Given the description of an element on the screen output the (x, y) to click on. 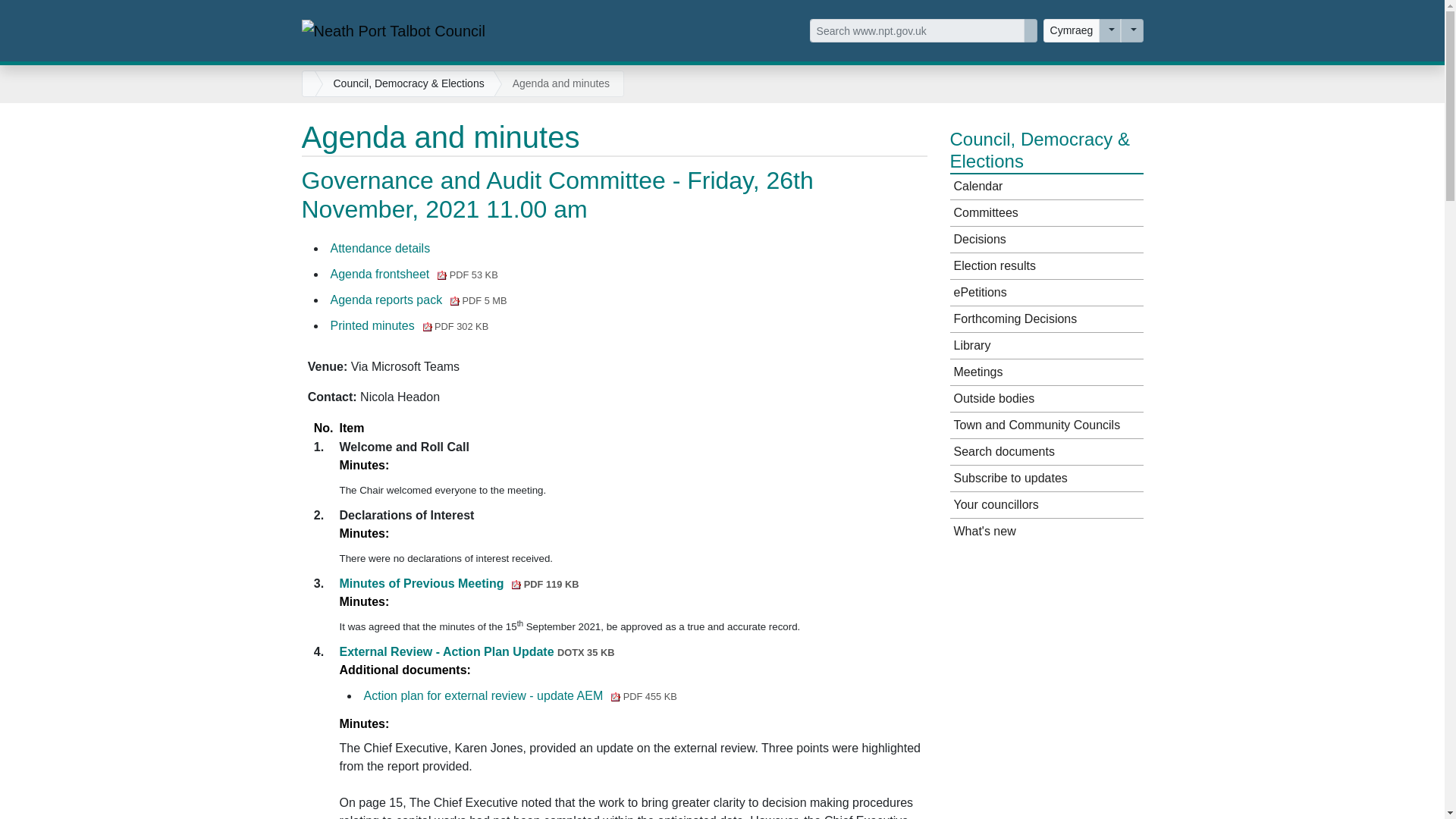
Self Service (1110, 30)
Link to printed minutes pdf file (409, 325)
Link to agenda reports  document pack pdf file (418, 299)
Agenda reports pack PDF 5 MB (418, 299)
Minutes of Previous Meeting PDF 119 KB (459, 583)
Attendance details (380, 247)
Agenda frontsheet PDF 53 KB (413, 273)
External Review - Action Plan Update DOTX 35 KB (476, 651)
System (1131, 30)
Printed minutes PDF 302 KB (409, 325)
Link to document 'Minutes of Previous Meeting' pdf file (459, 583)
